Given the description of an element on the screen output the (x, y) to click on. 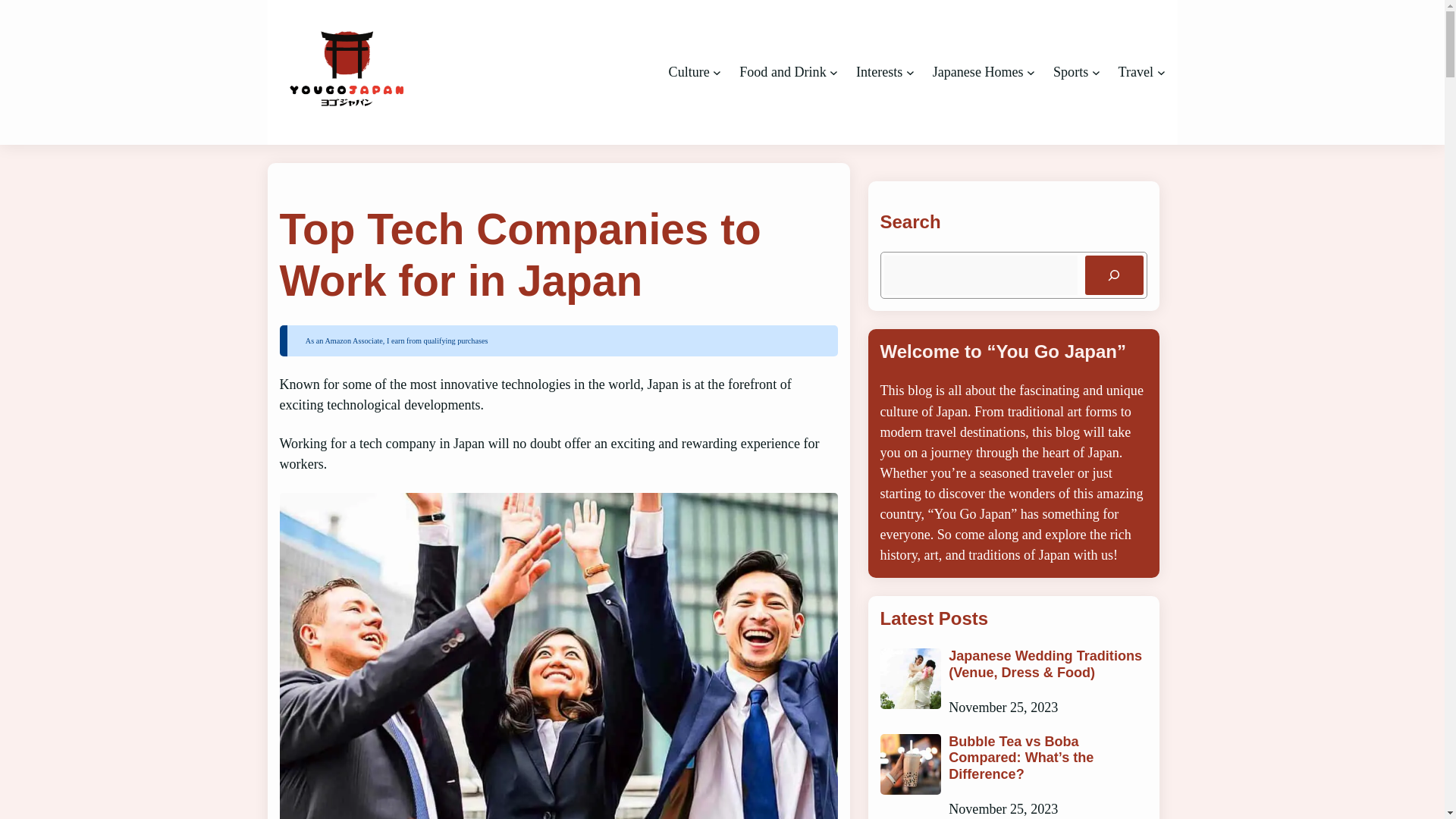
Food and Drink (783, 72)
Culture (689, 72)
Japanese Homes (978, 72)
Sports (1069, 72)
Interests (879, 72)
